Given the description of an element on the screen output the (x, y) to click on. 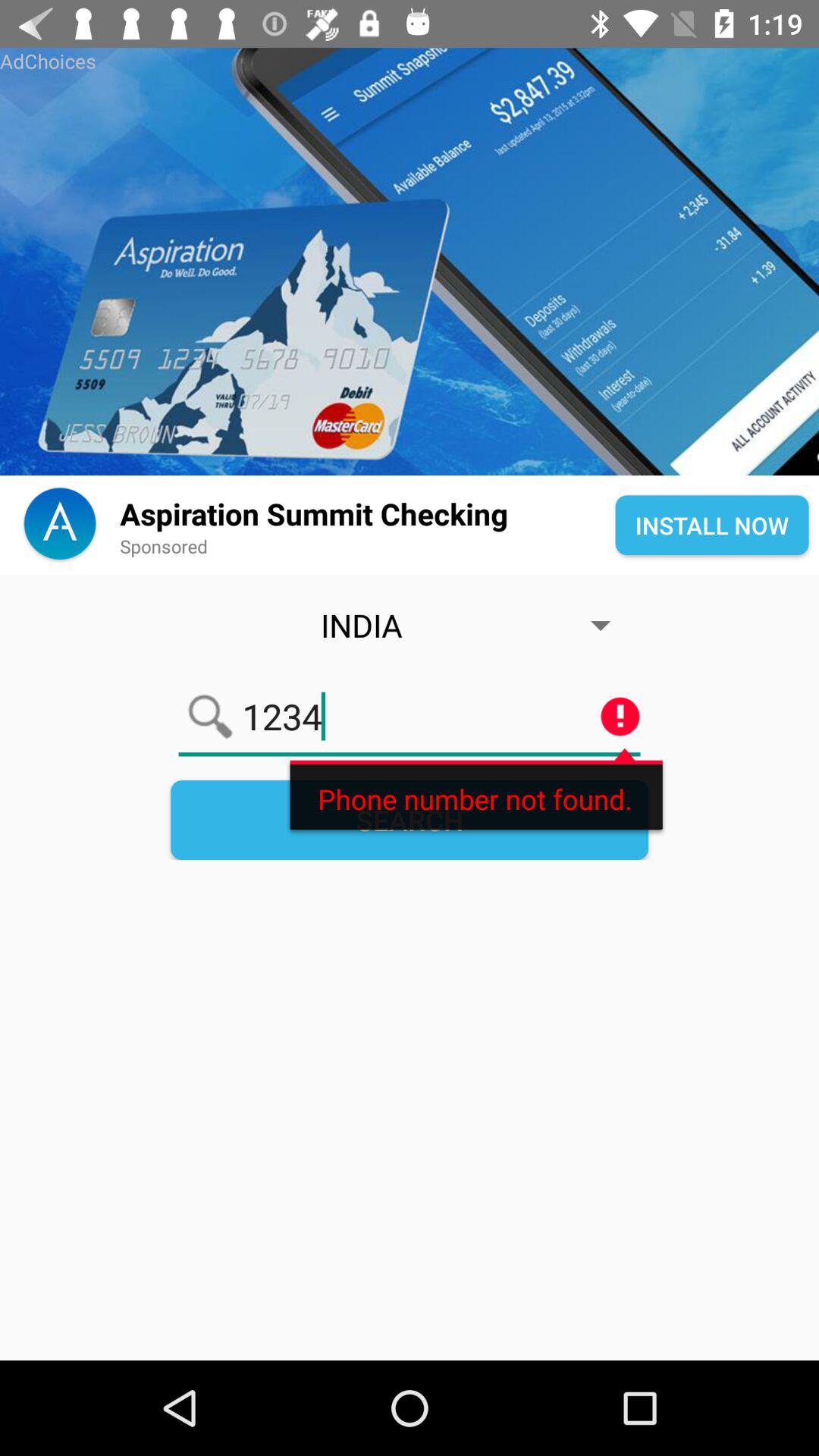
share the article (409, 261)
